Given the description of an element on the screen output the (x, y) to click on. 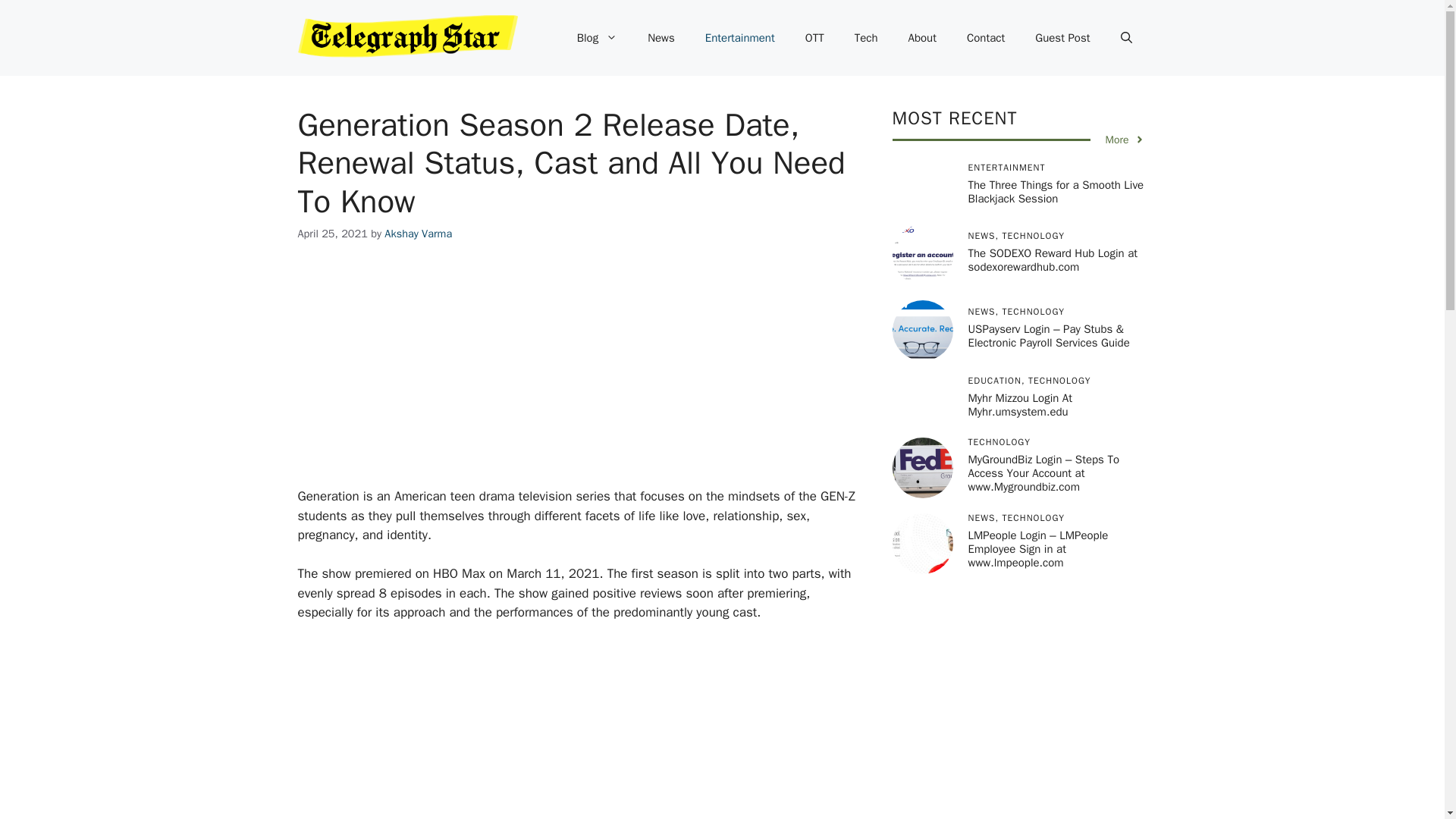
Entertainment (740, 37)
Blog (596, 37)
View all posts by Akshay Varma (417, 233)
Tech (866, 37)
The Three Things for a Smooth Live Blackjack Session (1055, 191)
Advertisement (600, 730)
More (1124, 139)
OTT (815, 37)
Akshay Varma (417, 233)
Contact (986, 37)
Advertisement (600, 374)
Myhr Mizzou Login At Myhr.umsystem.edu (1019, 404)
News (660, 37)
The SODEXO Reward Hub Login at sodexorewardhub.com (1052, 259)
Guest Post (1062, 37)
